Given the description of an element on the screen output the (x, y) to click on. 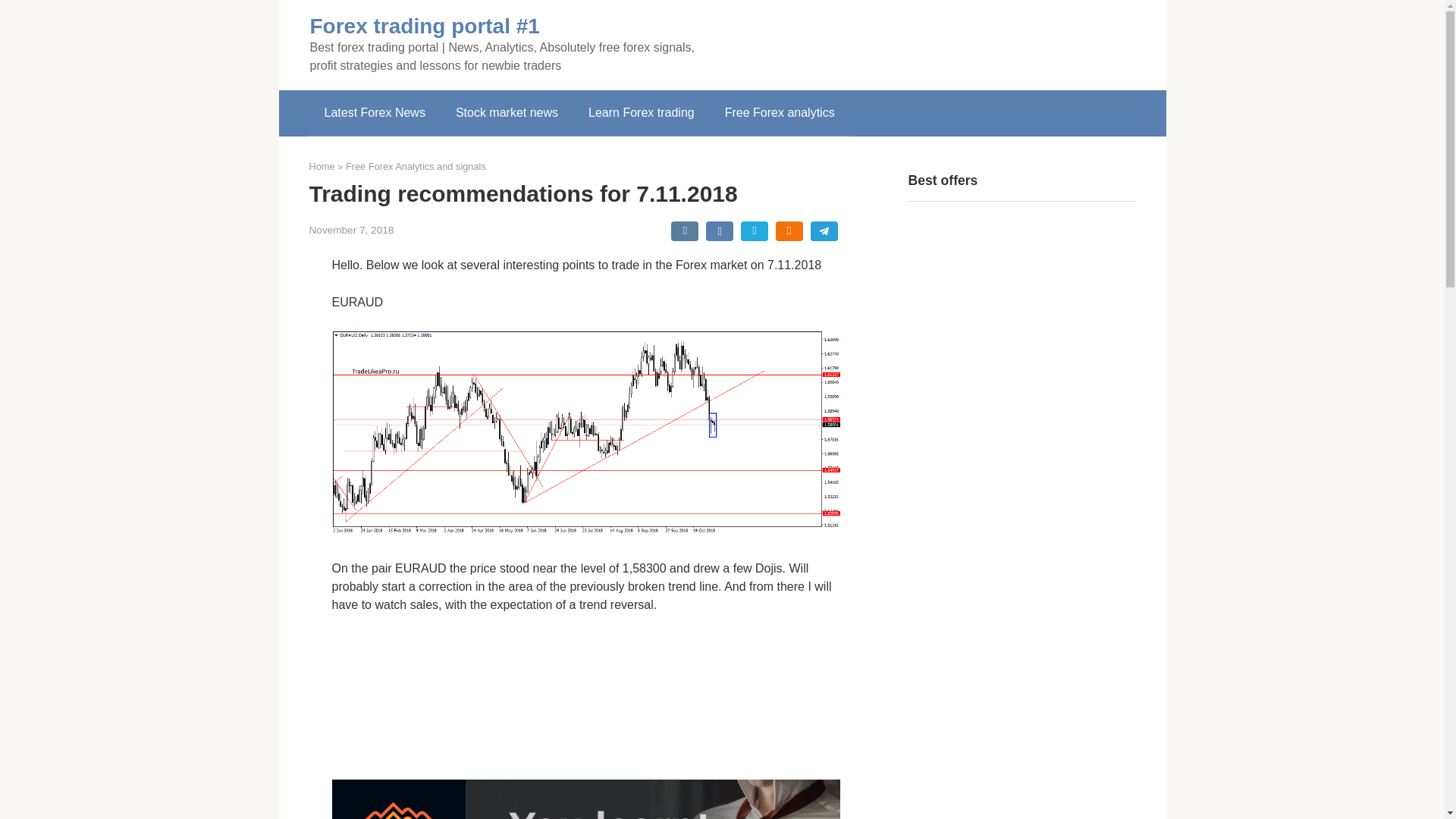
Free Forex analytics (780, 112)
Advertisement (585, 696)
Learn Forex trading (641, 112)
Free Forex Analytics and signals (416, 165)
Stock market news (507, 112)
Advertisement (1021, 765)
Advertisement (922, 42)
Home (321, 165)
Latest Forex News (374, 112)
